Given the description of an element on the screen output the (x, y) to click on. 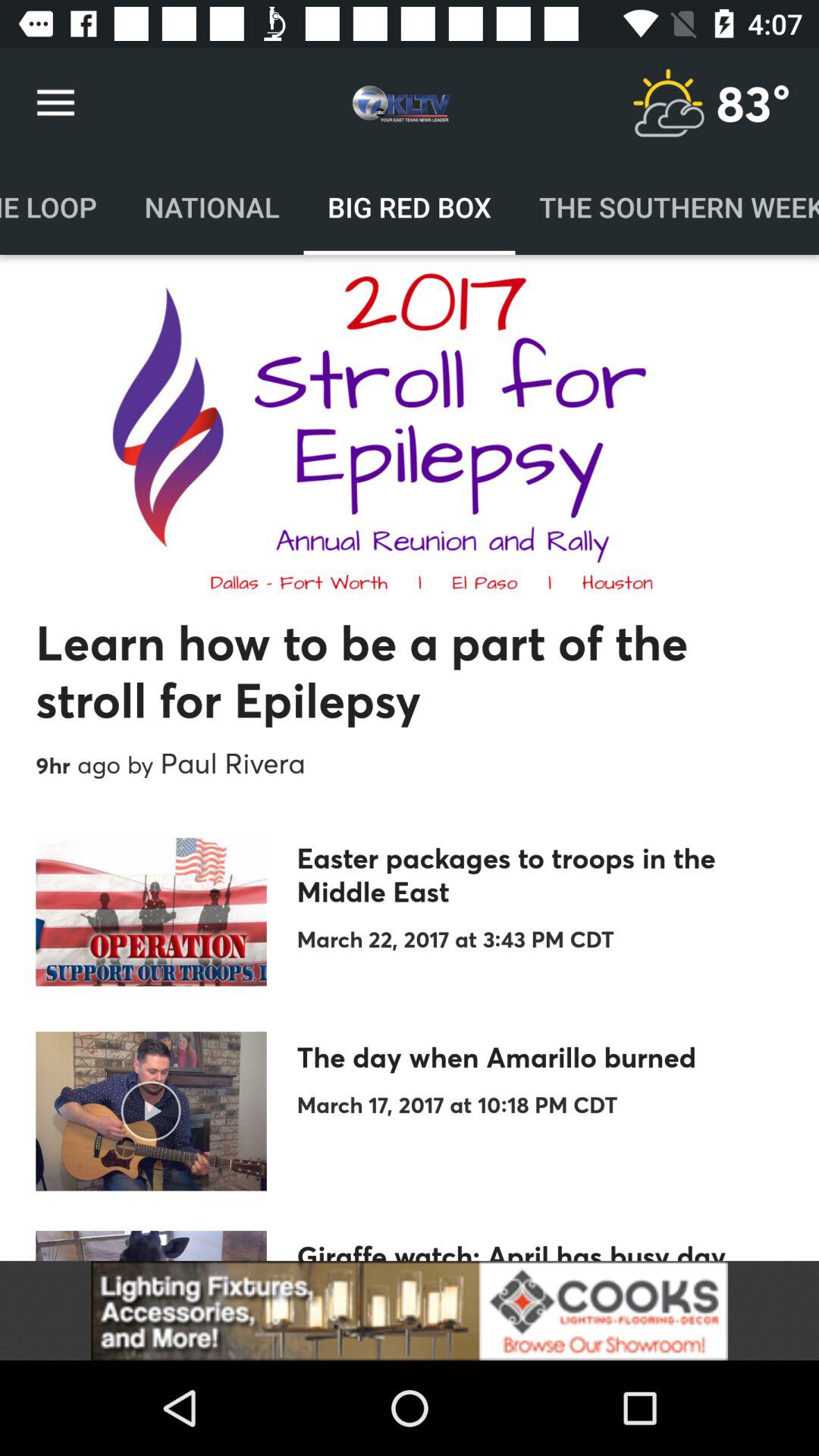
advertisement link (409, 1310)
